Given the description of an element on the screen output the (x, y) to click on. 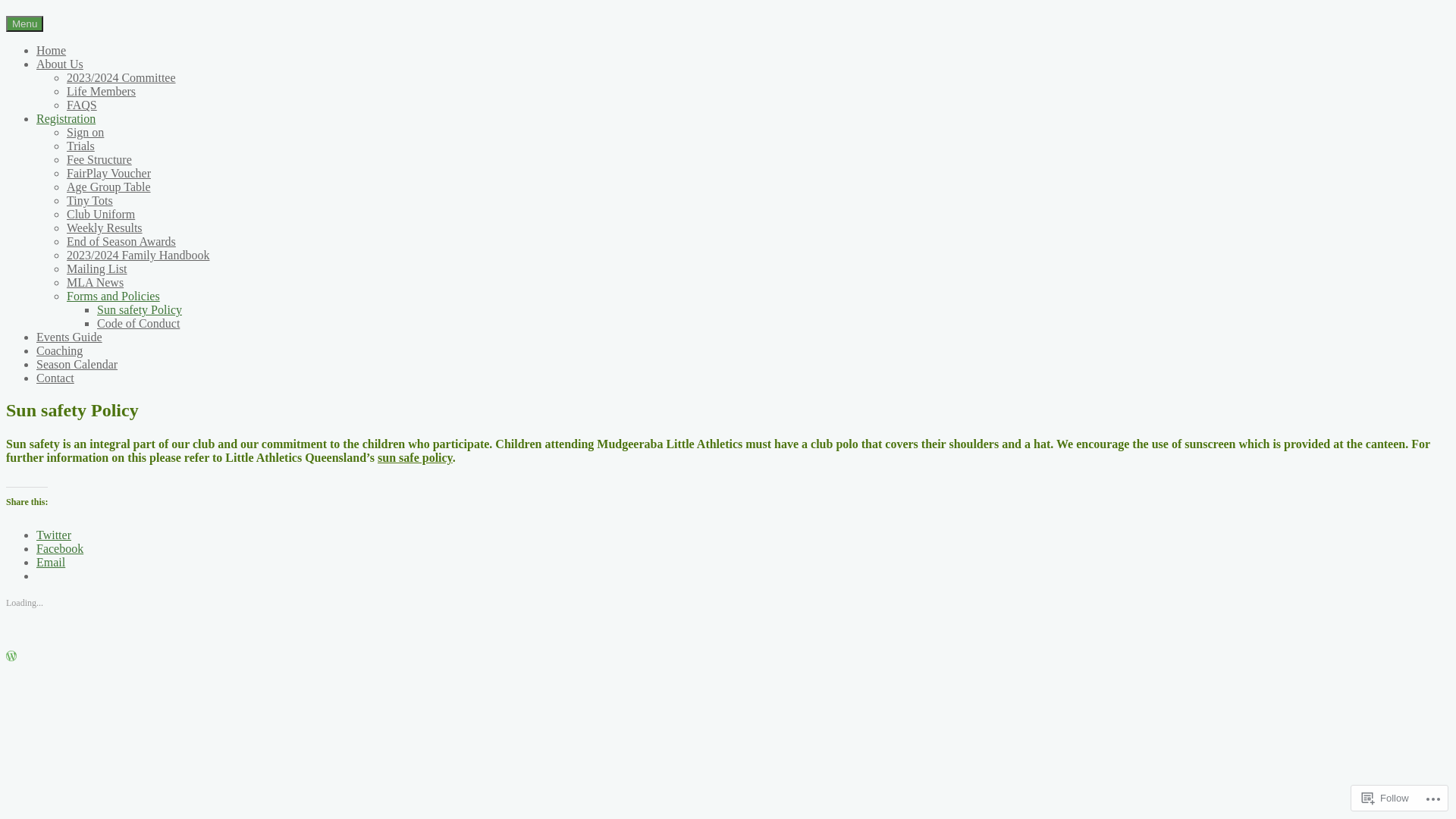
Contact Element type: text (55, 377)
Forms and Policies Element type: text (113, 295)
Follow Element type: text (1385, 797)
Club Uniform Element type: text (100, 213)
Trials Element type: text (80, 145)
Fee Structure Element type: text (98, 159)
Code of Conduct Element type: text (138, 322)
Menu Element type: text (24, 23)
FairPlay Voucher Element type: text (108, 172)
2023/2024 Committee Element type: text (120, 77)
Home Element type: text (50, 49)
Twitter Element type: text (53, 534)
FAQS Element type: text (81, 104)
Events Guide Element type: text (69, 336)
Tiny Tots Element type: text (89, 200)
Life Members Element type: text (100, 90)
Coaching Element type: text (59, 350)
sun safe policy Element type: text (414, 457)
Sign on Element type: text (84, 131)
Weekly Results Element type: text (104, 227)
Age Group Table Element type: text (108, 186)
2023/2024 Family Handbook Element type: text (137, 254)
Skip to content Element type: text (5, 15)
Facebook Element type: text (59, 548)
Sun safety Policy Element type: text (139, 309)
MLA News Element type: text (94, 282)
About Us Element type: text (59, 63)
Create a website or blog at WordPress.com Element type: text (11, 655)
End of Season Awards Element type: text (120, 241)
Mailing List Element type: text (96, 268)
Season Calendar Element type: text (76, 363)
Registration Element type: text (65, 118)
Email Element type: text (50, 561)
